Given the description of an element on the screen output the (x, y) to click on. 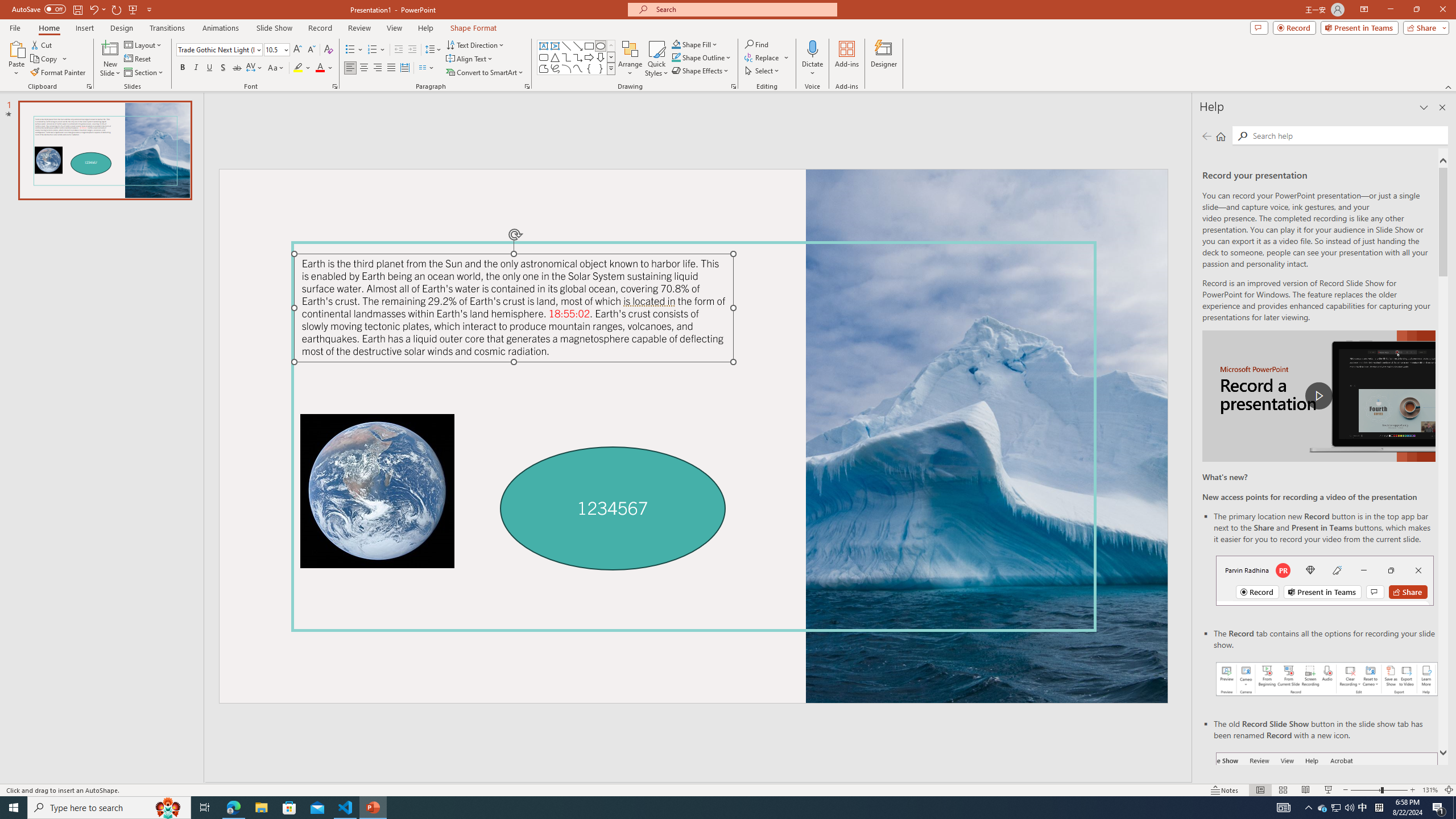
Dictate (812, 58)
Row up (611, 45)
Bullets (354, 49)
Home (1220, 136)
Arrow: Down (600, 57)
Quick Styles (656, 58)
Font Size (273, 49)
Quick Access Toolbar (82, 9)
Bullets (349, 49)
Undo (92, 9)
Line (566, 45)
Class: MsoCommandBar (728, 789)
Shadow (223, 67)
